Given the description of an element on the screen output the (x, y) to click on. 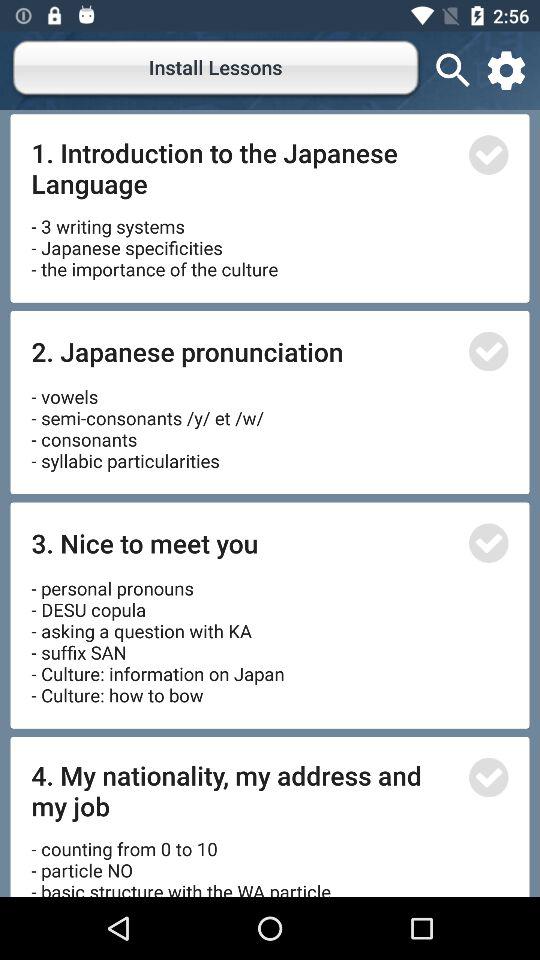
open icon above the 3 nice to icon (150, 422)
